Given the description of an element on the screen output the (x, y) to click on. 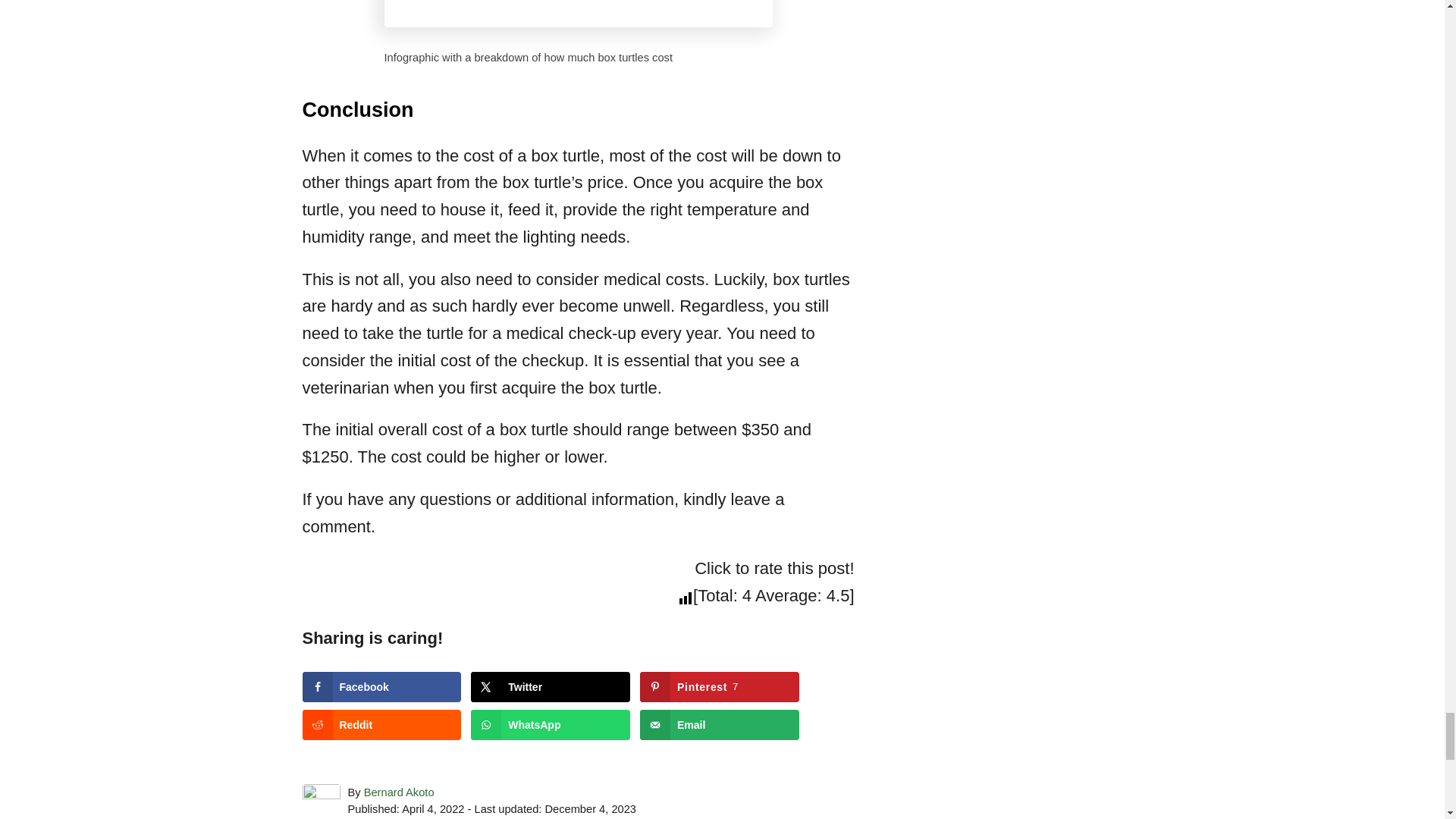
Share on WhatsApp (550, 725)
Send over email (719, 725)
Share on Reddit (381, 725)
Save to Pinterest (719, 686)
Share on X (550, 686)
Share on Facebook (381, 686)
